Given the description of an element on the screen output the (x, y) to click on. 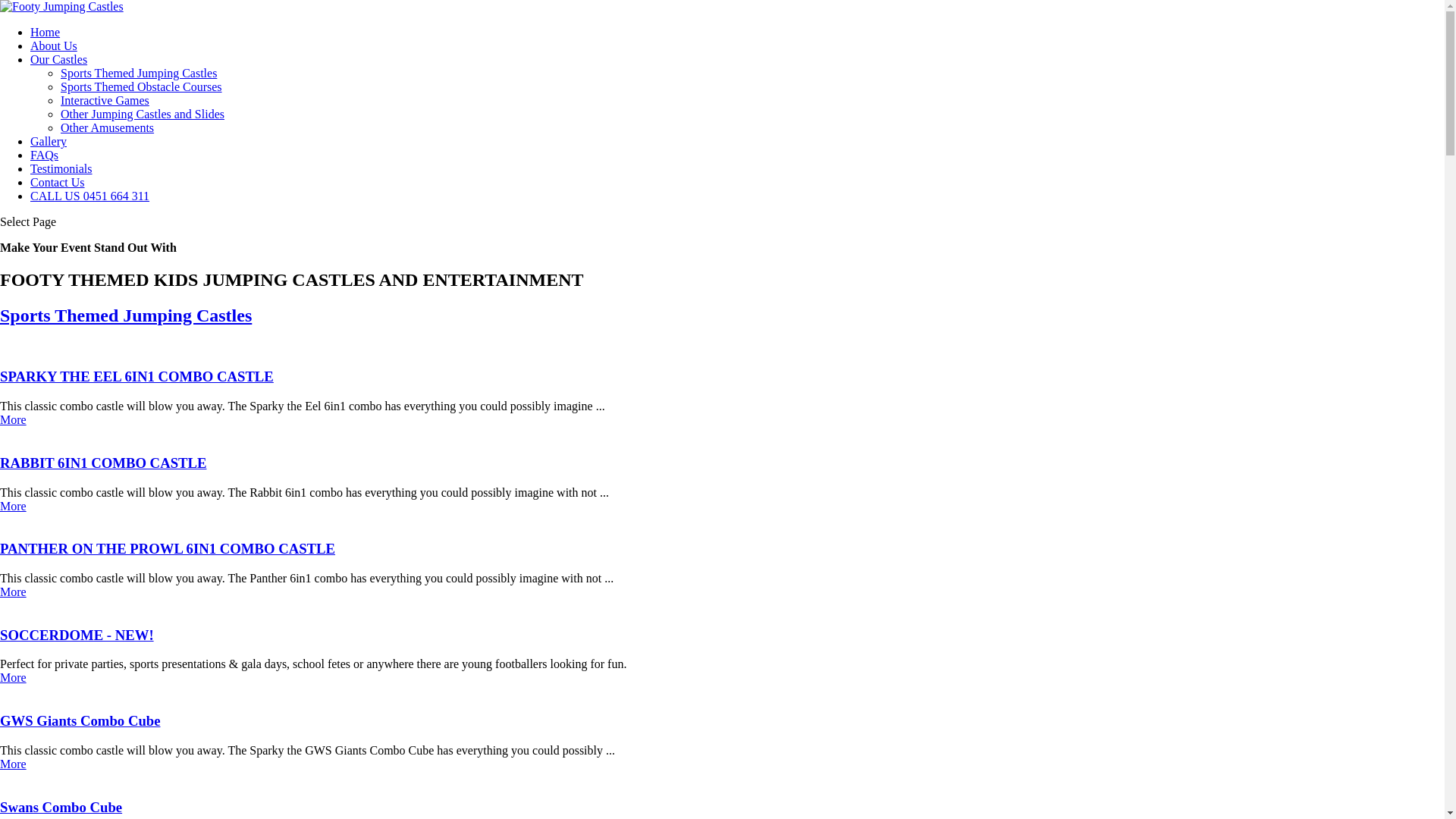
Other Jumping Castles and Slides Element type: text (142, 113)
About Us Element type: text (53, 45)
GWS Giants Combo Cube Element type: text (722, 734)
Our Castles Element type: text (58, 59)
Other Amusements Element type: text (106, 127)
More Element type: text (13, 763)
Sports Themed Jumping Castles Element type: text (722, 315)
FAQs Element type: text (44, 154)
More Element type: text (13, 677)
SPARKY THE EEL 6IN1 COMBO CASTLE Element type: text (722, 390)
Interactive Games Element type: text (104, 100)
More Element type: text (13, 505)
CALL US 0451 664 311 Element type: text (89, 195)
Sports Themed Jumping Castles Element type: text (138, 72)
PANTHER ON THE PROWL 6IN1 COMBO CASTLE Element type: text (722, 562)
More Element type: text (13, 591)
SOCCERDOME - NEW! Element type: text (722, 649)
Sports Themed Obstacle Courses Element type: text (141, 86)
Contact Us Element type: text (57, 181)
RABBIT 6IN1 COMBO CASTLE Element type: text (722, 477)
Home Element type: text (44, 31)
More Element type: text (13, 419)
Gallery Element type: text (48, 140)
Testimonials Element type: text (61, 168)
